Given the description of an element on the screen output the (x, y) to click on. 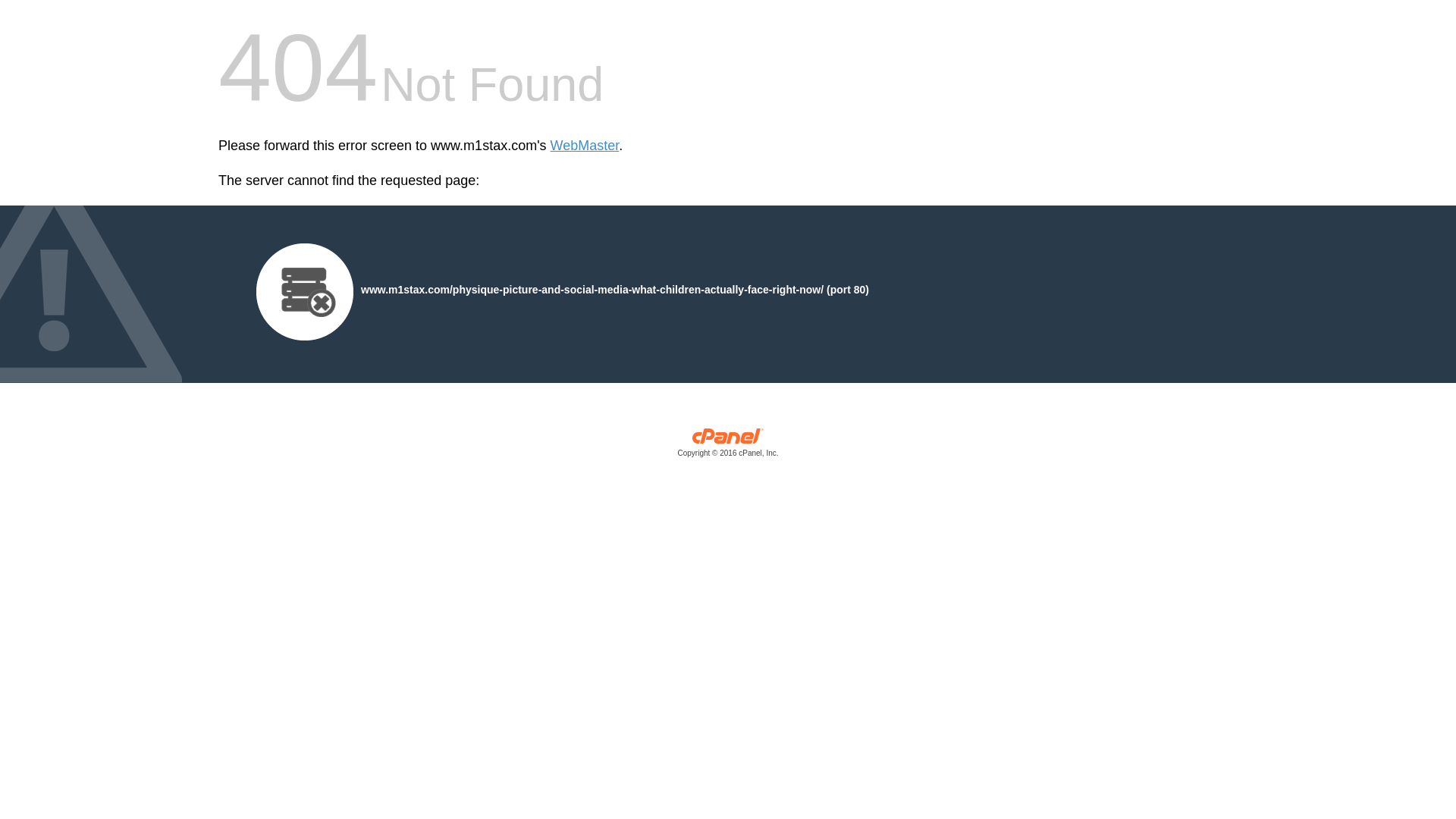
cPanel, Inc. (727, 446)
WebMaster (585, 145)
